Given the description of an element on the screen output the (x, y) to click on. 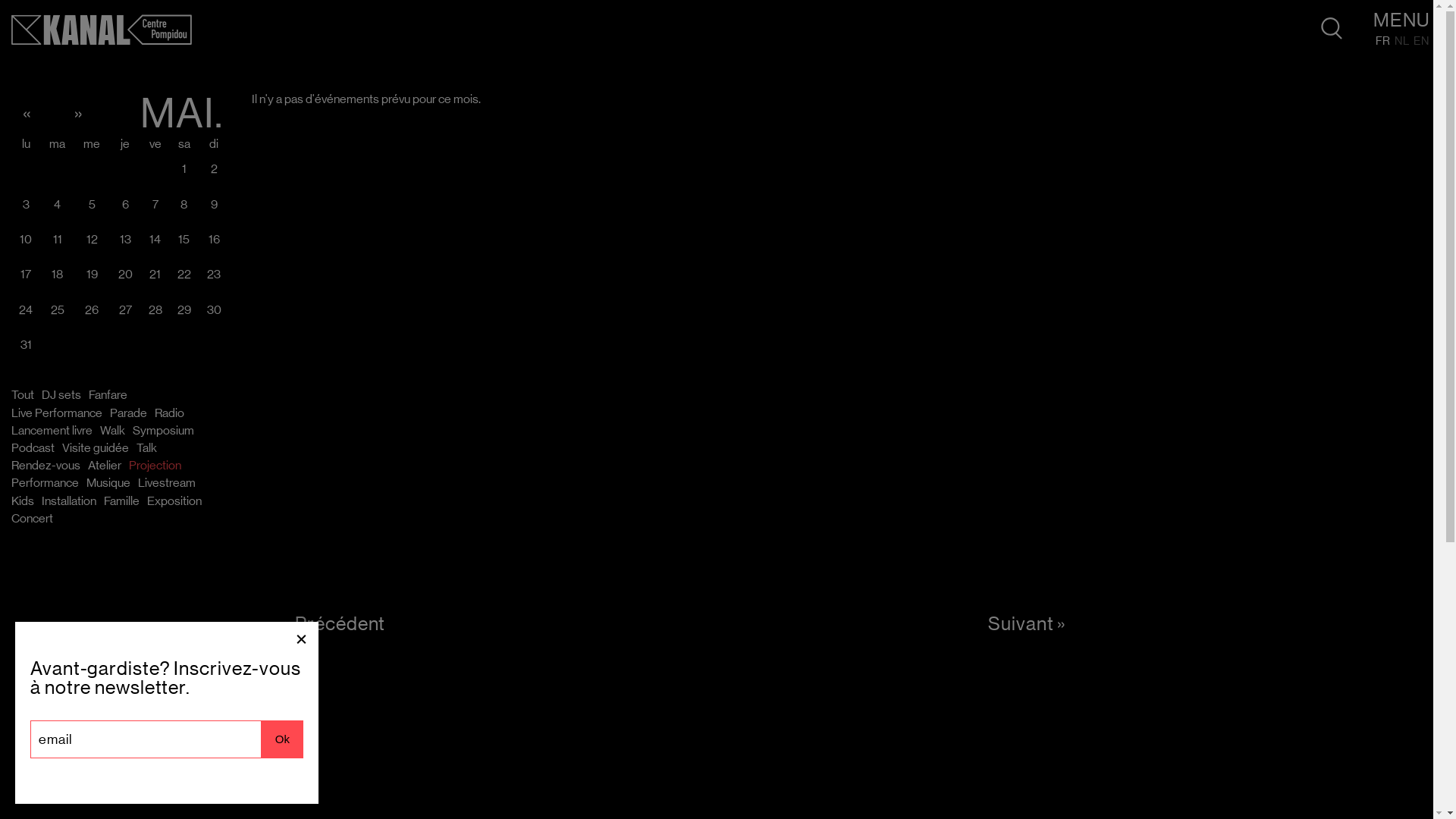
Live Performance Element type: text (56, 413)
Kids Element type: text (22, 501)
Fanfare Element type: text (107, 395)
Concert Element type: text (32, 518)
EN Element type: text (1421, 41)
Performance Element type: text (44, 482)
Walk Element type: text (112, 430)
Atelier Element type: text (104, 465)
FR Element type: text (1383, 41)
Exposition Element type: text (174, 501)
Rendez-vous Element type: text (45, 465)
Close Element type: text (301, 638)
Famille Element type: text (121, 501)
Tout Element type: text (22, 395)
NL Element type: text (1401, 41)
Livestream Element type: text (166, 482)
Parade Element type: text (128, 413)
Podcast Element type: text (32, 448)
Projection Element type: text (154, 465)
Installation Element type: text (68, 501)
DJ sets Element type: text (61, 395)
Apply Element type: text (28, 14)
Lancement livre Element type: text (51, 430)
Radio Element type: text (169, 413)
Talk Element type: text (146, 448)
Symposium Element type: text (163, 430)
MAI. Element type: text (181, 114)
Rechercher Element type: text (1331, 28)
MENU Element type: text (1401, 20)
Ok Element type: text (282, 739)
Musique Element type: text (108, 482)
